Given the description of an element on the screen output the (x, y) to click on. 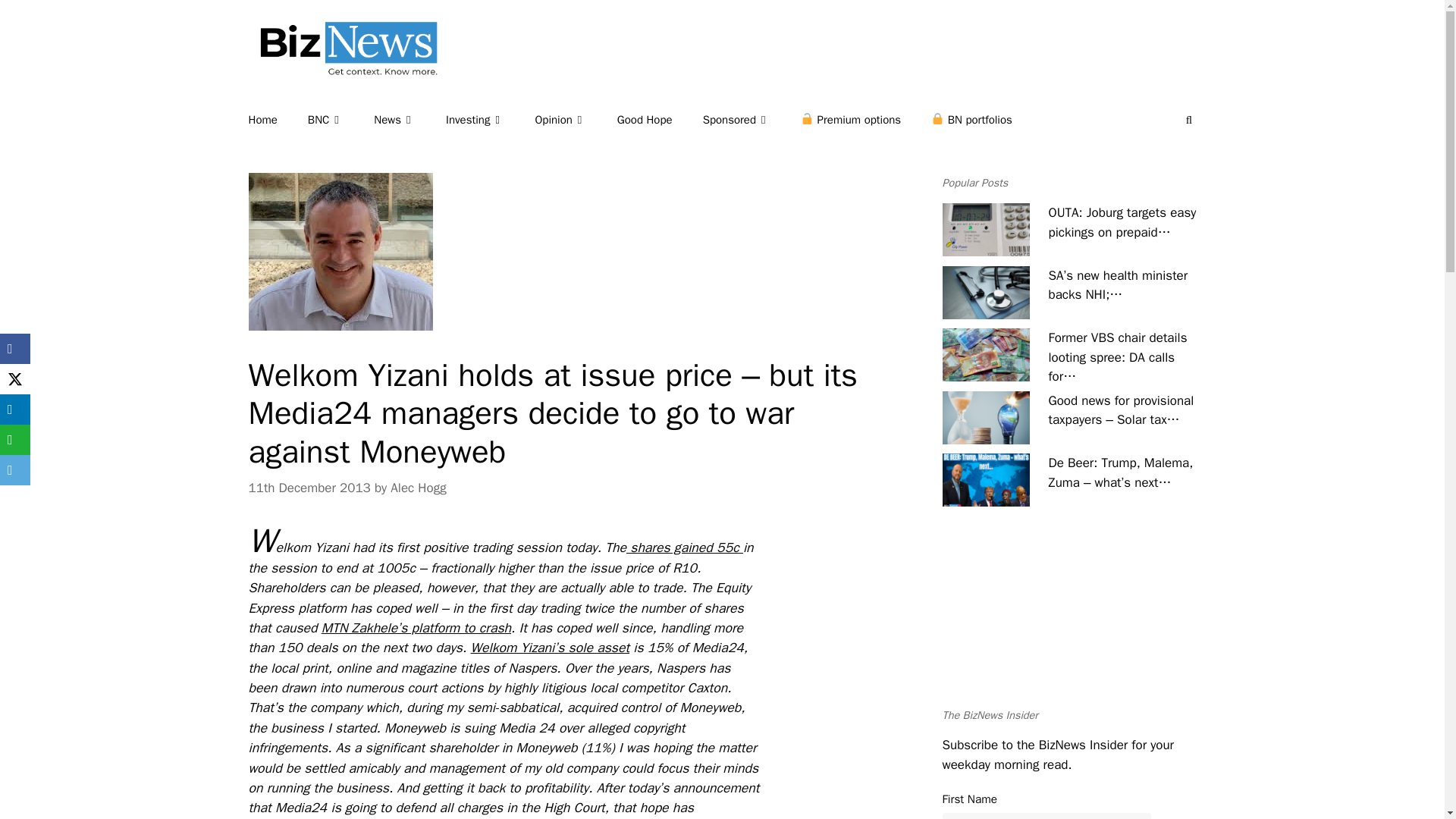
Premium options (865, 119)
BNC (340, 119)
Opinion (574, 119)
 shares gained 55c (684, 547)
Home (277, 119)
Alec Hogg (417, 487)
Sponsored (751, 119)
View all posts by Alec Hogg (417, 487)
Good Hope (660, 119)
News (409, 119)
BN portfolios (986, 119)
Investing (489, 119)
